Given the description of an element on the screen output the (x, y) to click on. 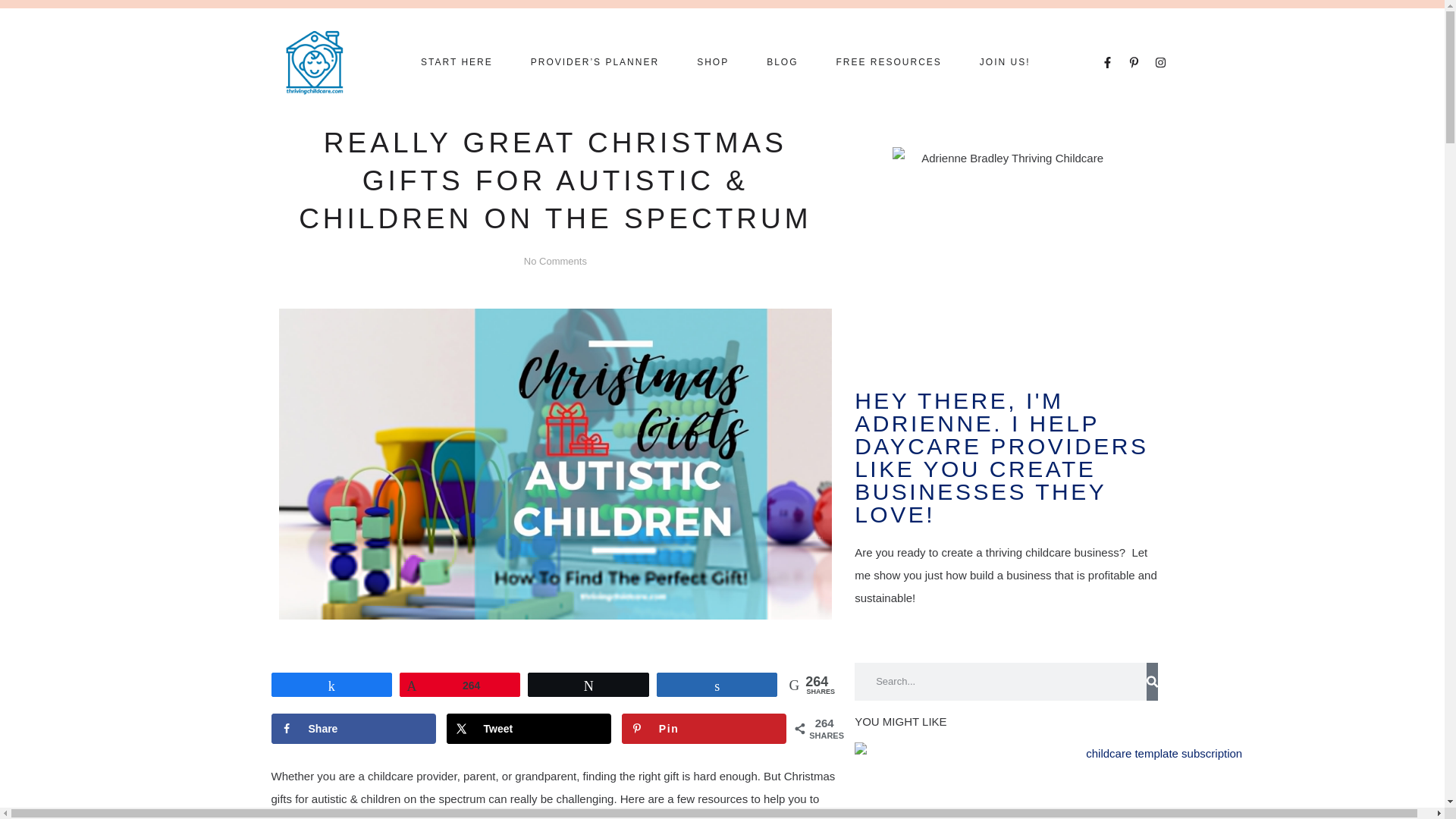
FREE RESOURCES (887, 61)
Save to Pinterest (704, 728)
Share on Facebook (353, 728)
BLOG (782, 61)
Share on X (528, 728)
START HERE (456, 61)
JOIN US! (1004, 61)
SHOP (713, 61)
